Given the description of an element on the screen output the (x, y) to click on. 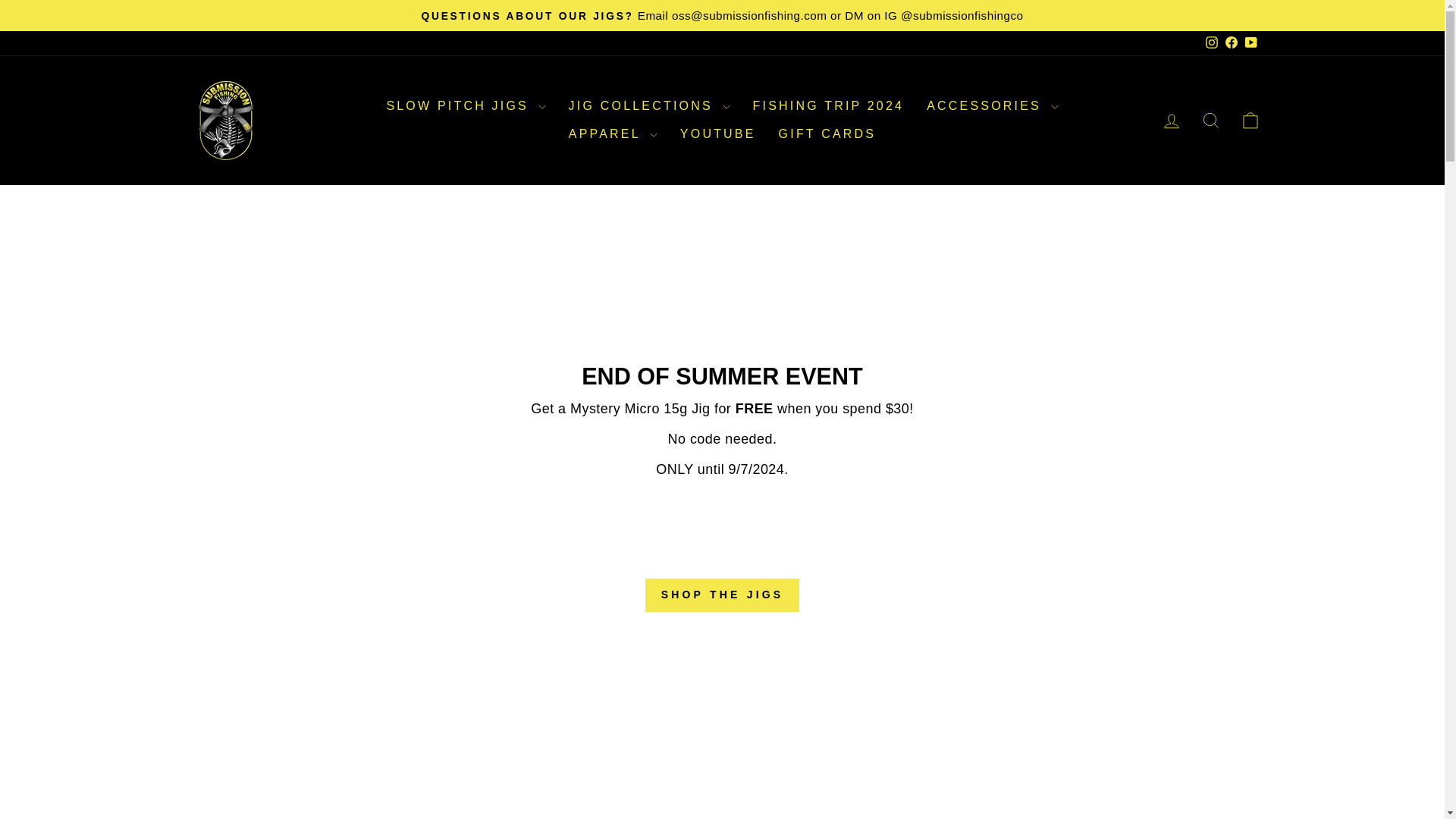
ICON-BAG-MINIMAL (1249, 120)
ACCOUNT (1170, 120)
instagram (1211, 42)
ICON-SEARCH (1210, 120)
